Given the description of an element on the screen output the (x, y) to click on. 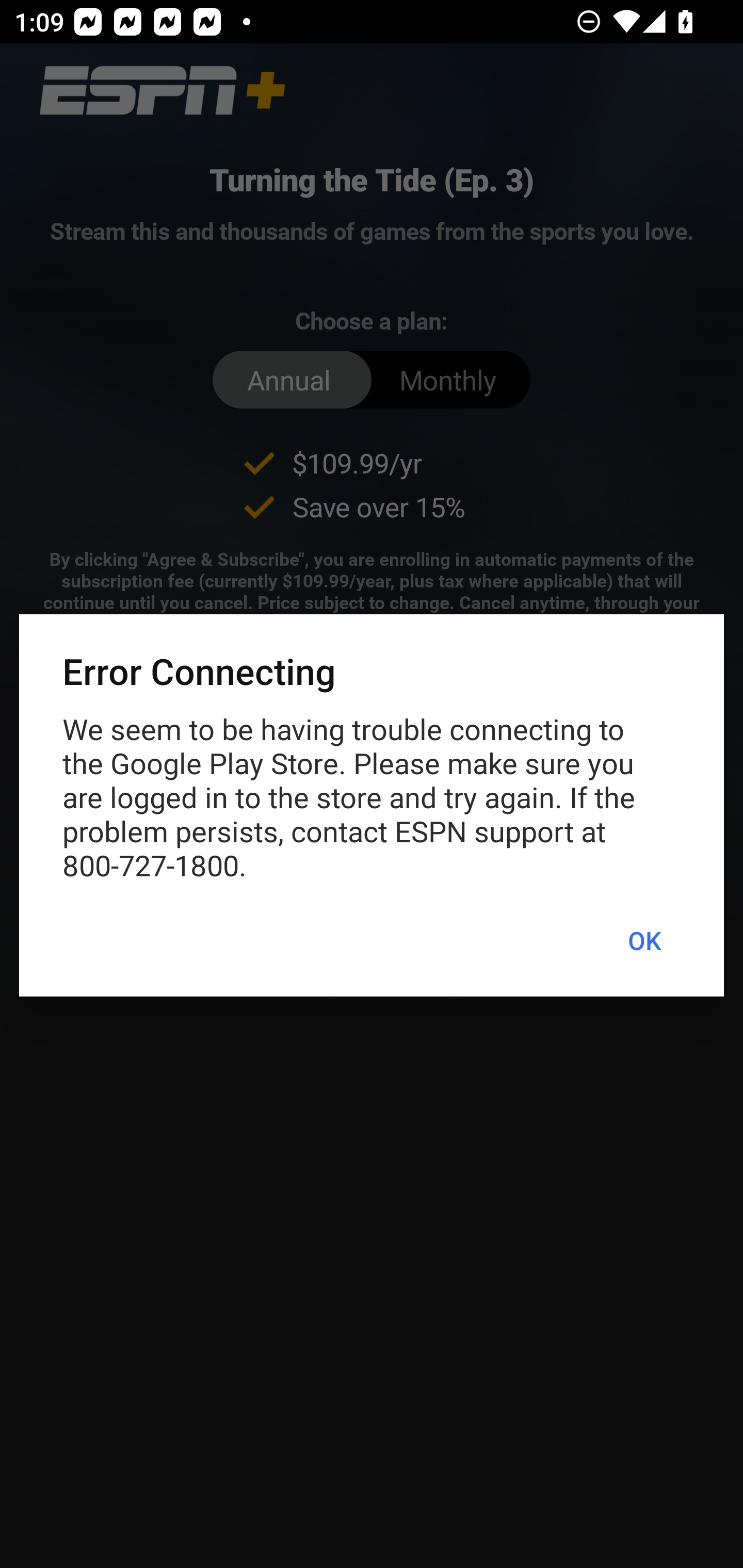
OK (644, 940)
